Given the description of an element on the screen output the (x, y) to click on. 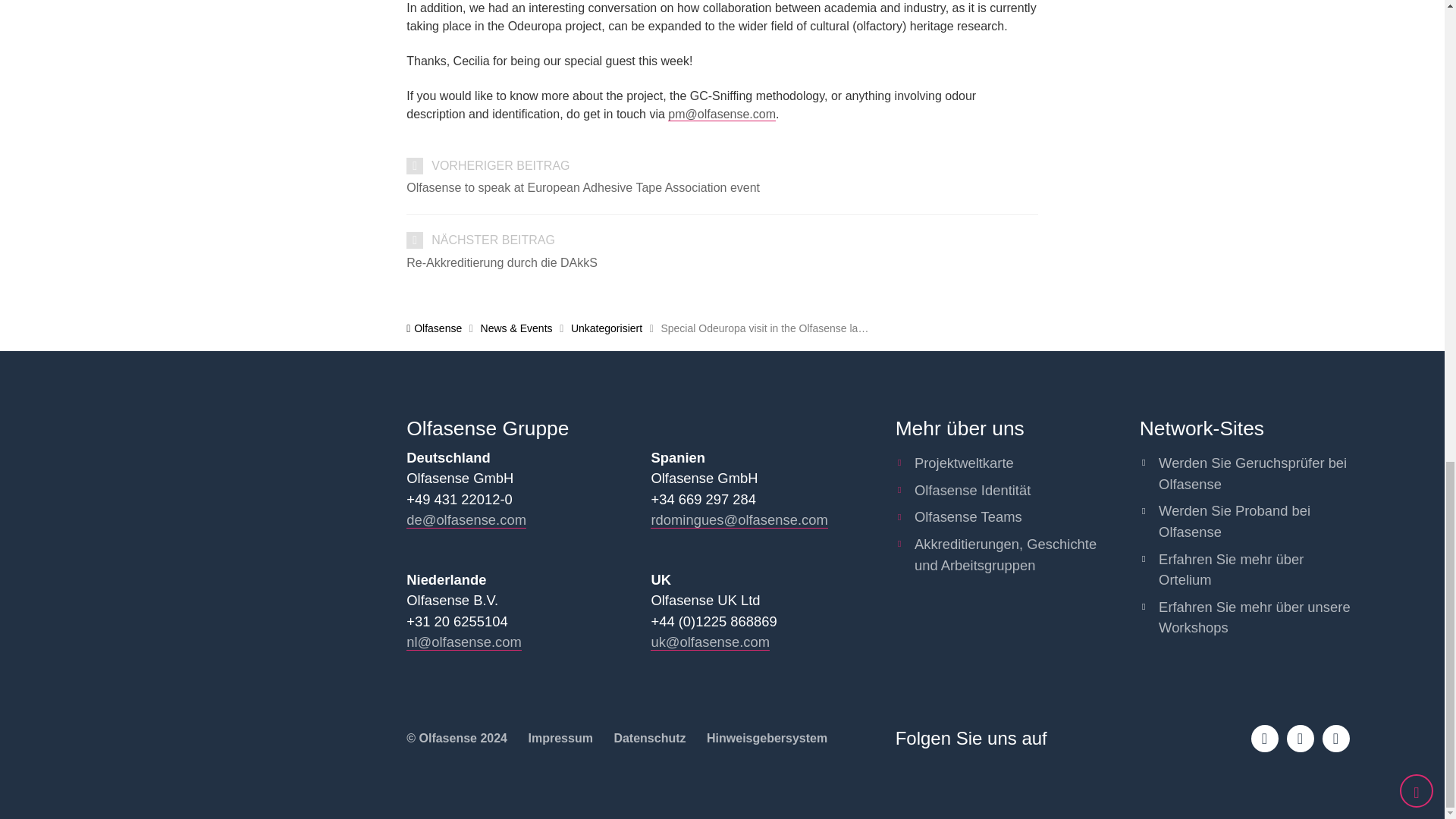
Re-Akkreditierung durch die DAkkS (722, 262)
Go to Olfasense. (433, 328)
